Given the description of an element on the screen output the (x, y) to click on. 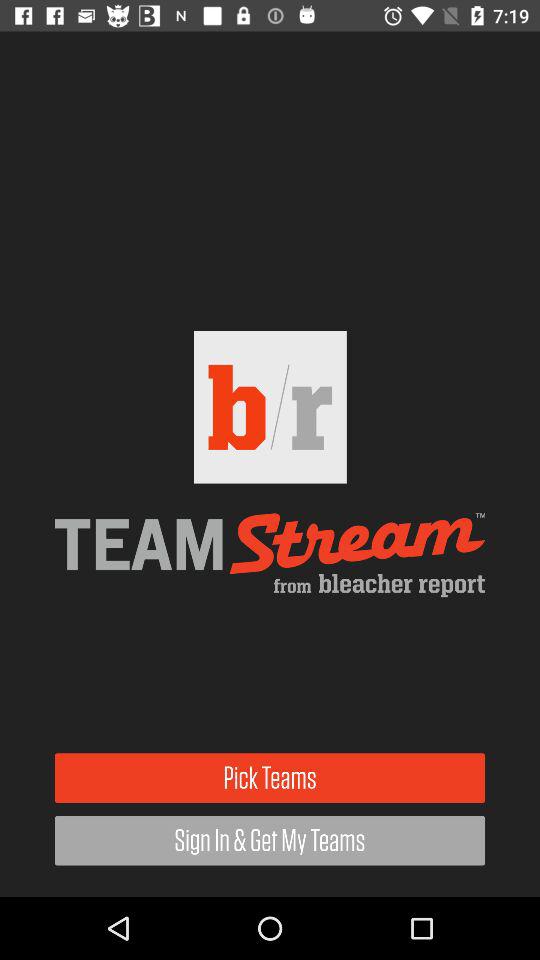
tap the sign in get item (269, 840)
